Given the description of an element on the screen output the (x, y) to click on. 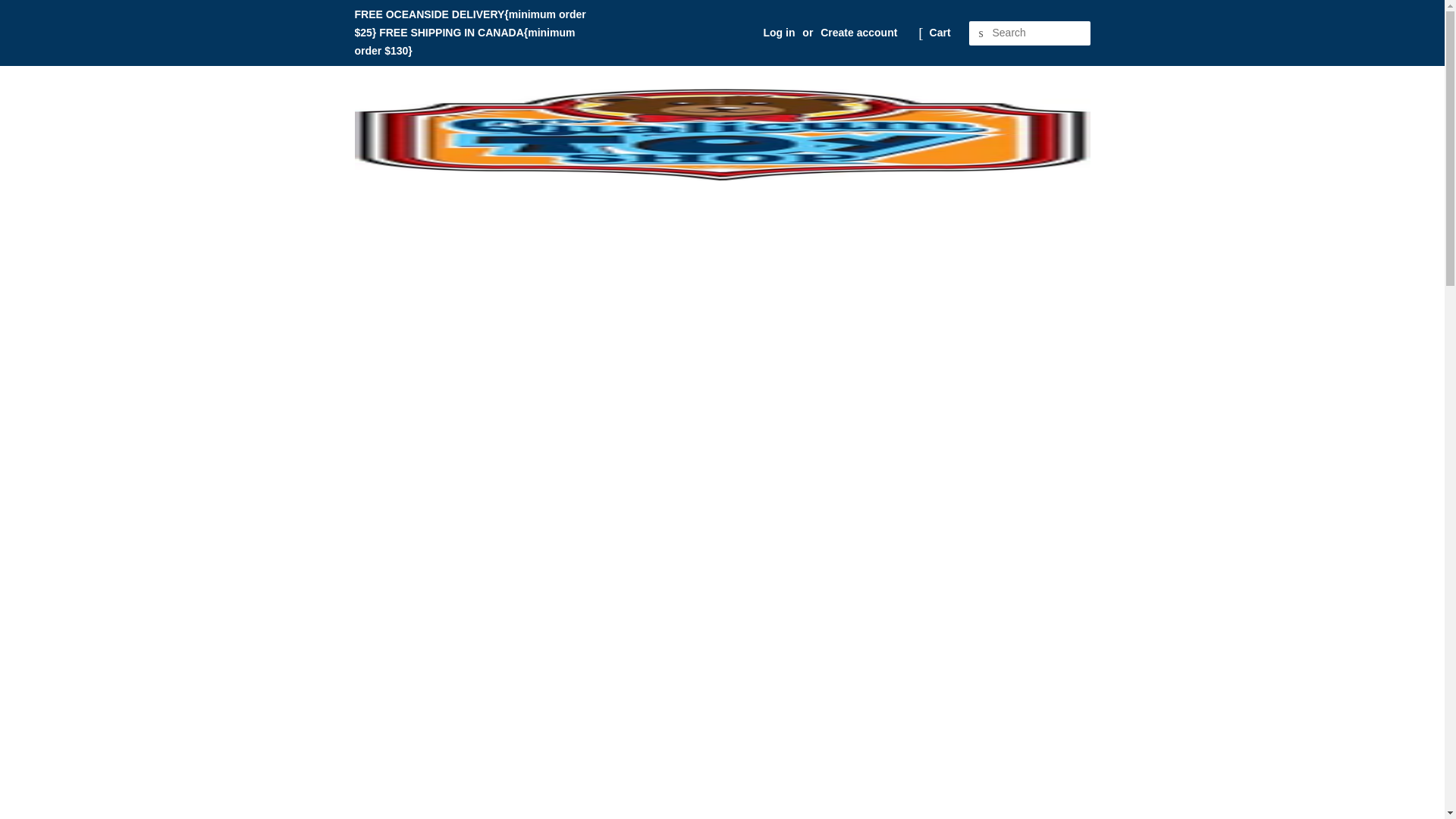
Log in (778, 32)
Create account (858, 32)
Search (980, 33)
Cart (940, 33)
